Given the description of an element on the screen output the (x, y) to click on. 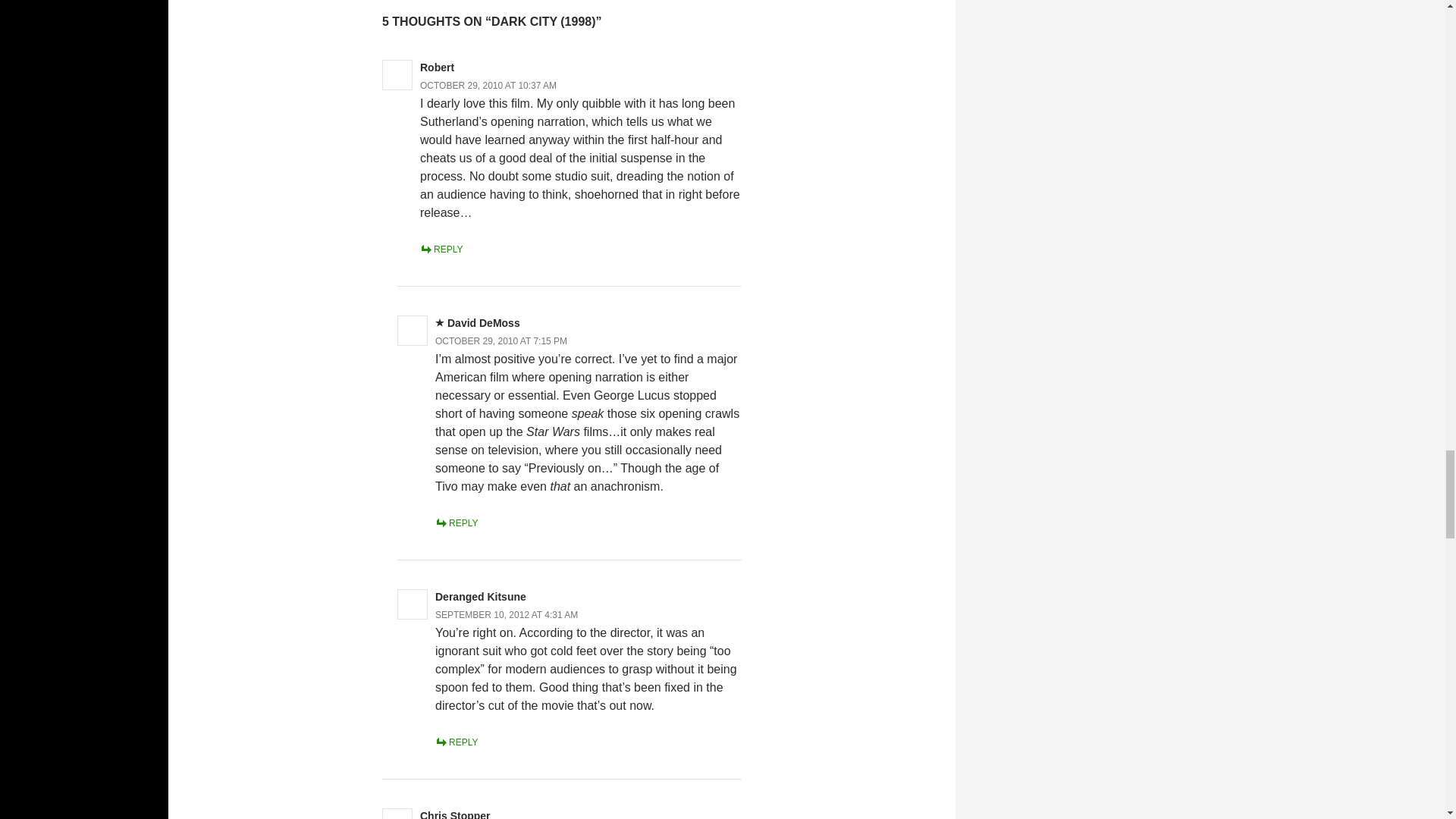
REPLY (456, 522)
REPLY (456, 742)
SEPTEMBER 10, 2012 AT 4:31 AM (506, 614)
OCTOBER 29, 2010 AT 10:37 AM (488, 85)
OCTOBER 29, 2010 AT 7:15 PM (501, 340)
REPLY (441, 249)
Chris Stopper (455, 814)
